Given the description of an element on the screen output the (x, y) to click on. 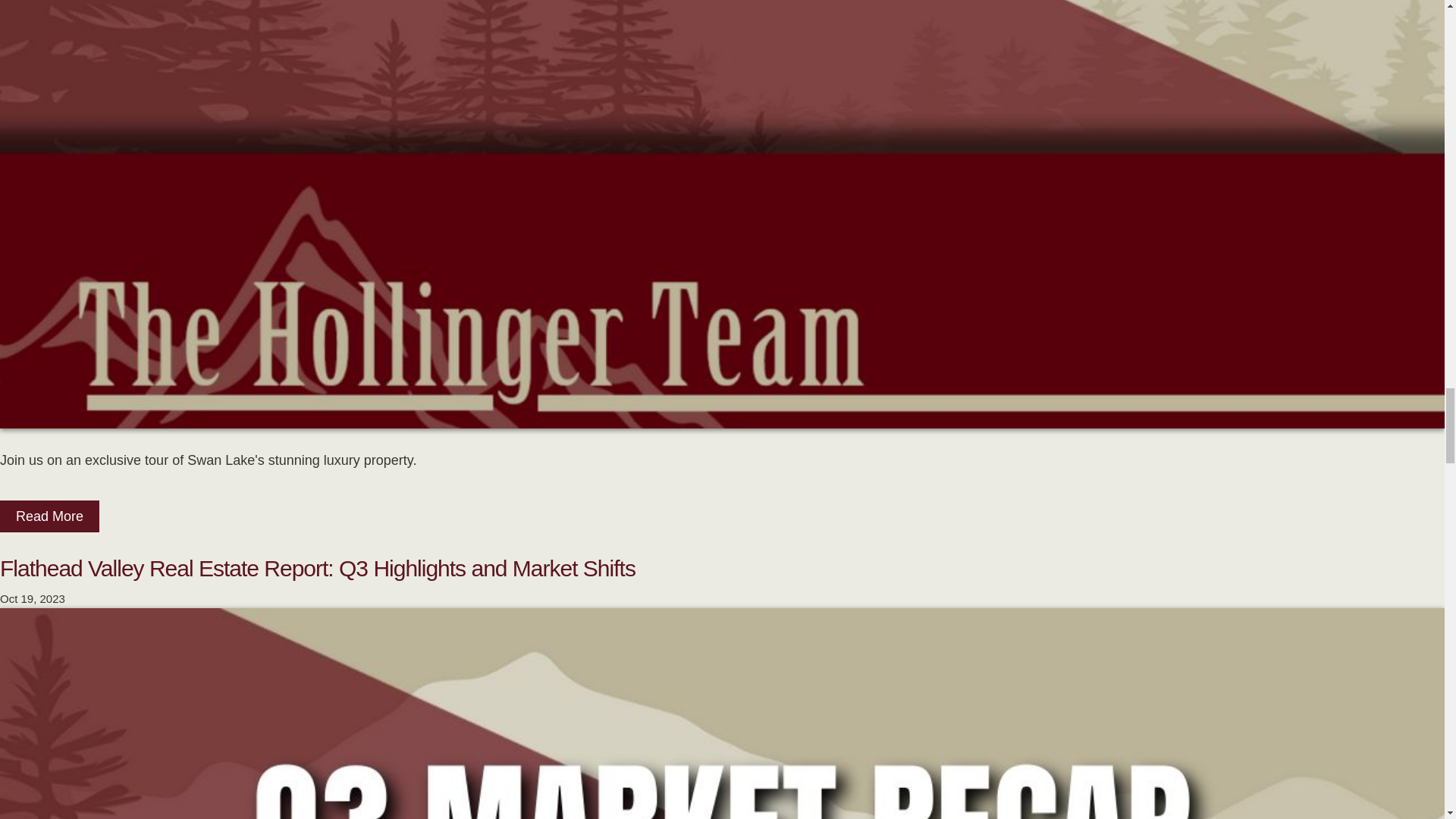
Read More (49, 516)
